Given the description of an element on the screen output the (x, y) to click on. 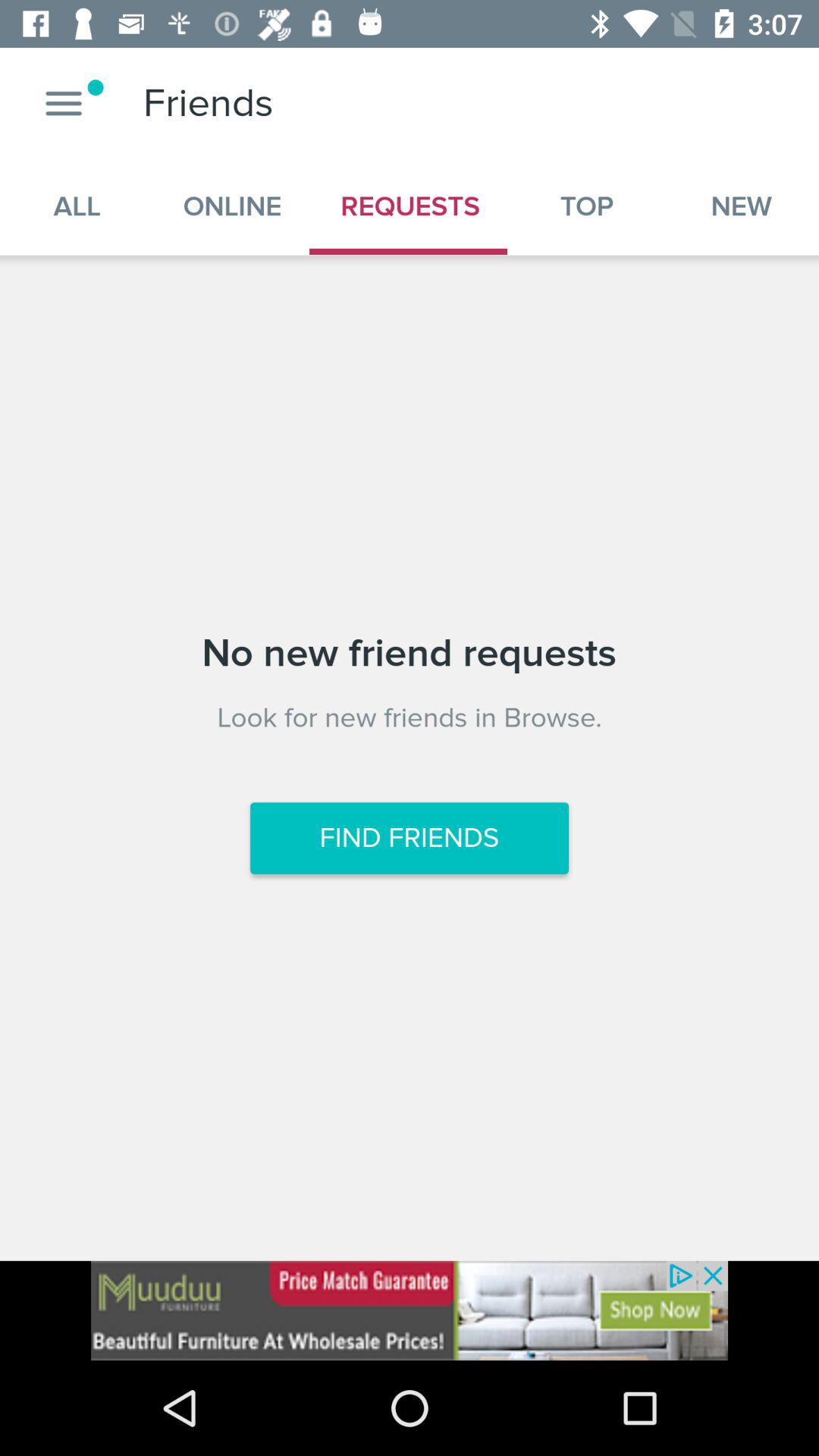
ellipse (63, 103)
